Given the description of an element on the screen output the (x, y) to click on. 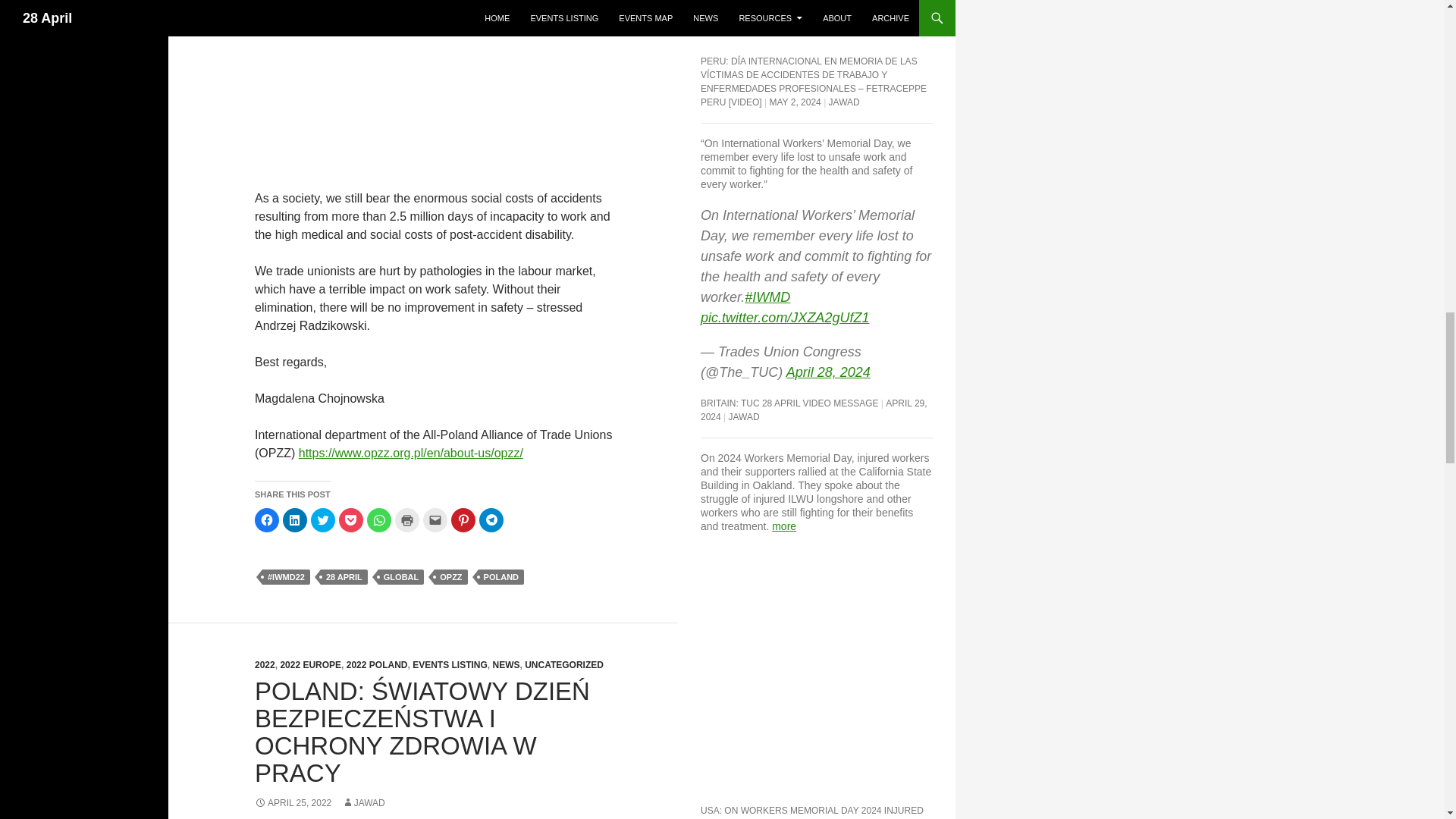
Click to share on Pinterest (463, 519)
Click to print (406, 519)
Click to share on LinkedIn (294, 519)
Click to share on Pocket (350, 519)
Click to share on WhatsApp (378, 519)
Click to share on Twitter (322, 519)
Click to email a link to a friend (434, 519)
Click to share on Facebook (266, 519)
Click to share on Telegram (491, 519)
